Given the description of an element on the screen output the (x, y) to click on. 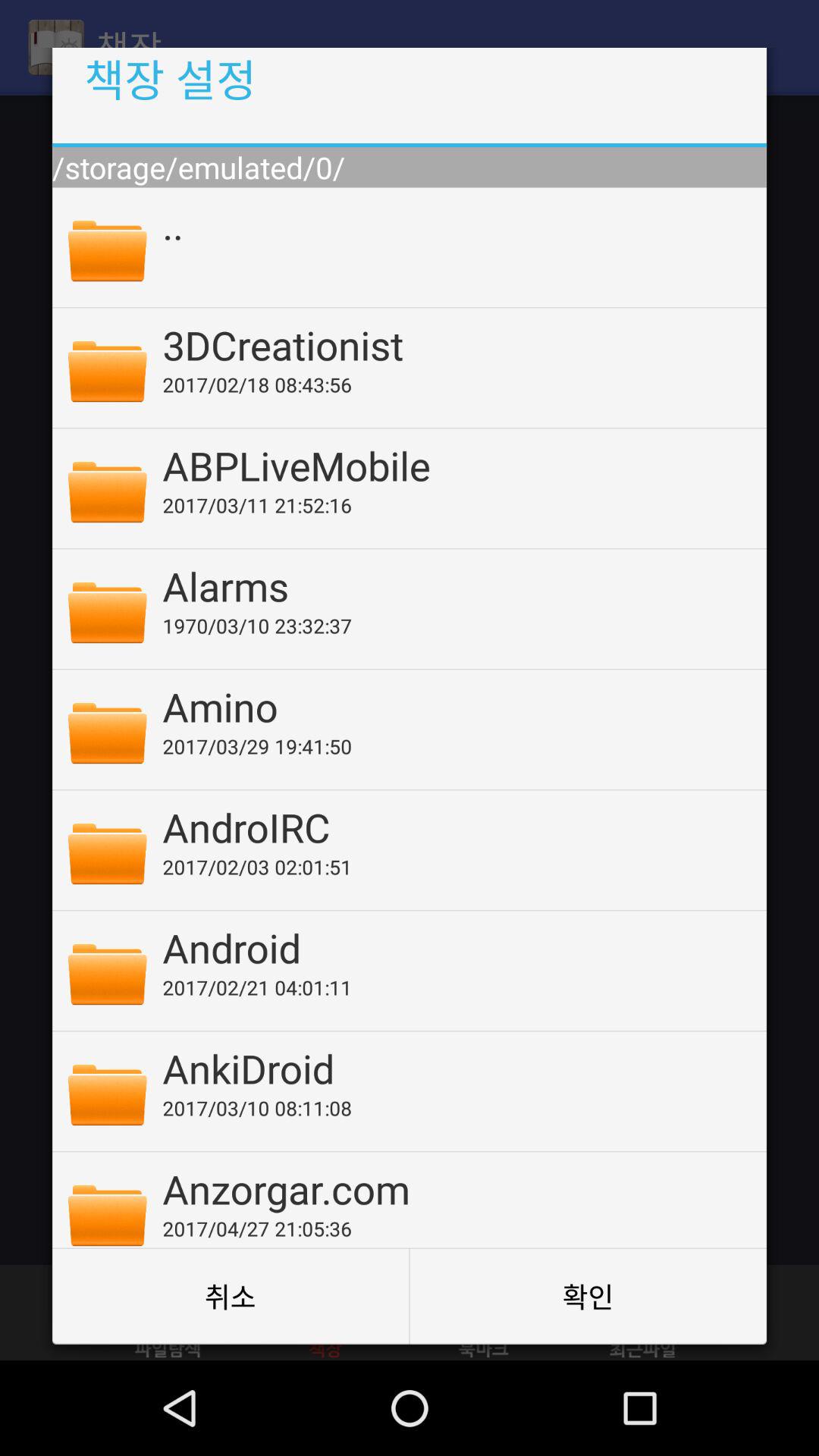
open the androirc (454, 826)
